Given the description of an element on the screen output the (x, y) to click on. 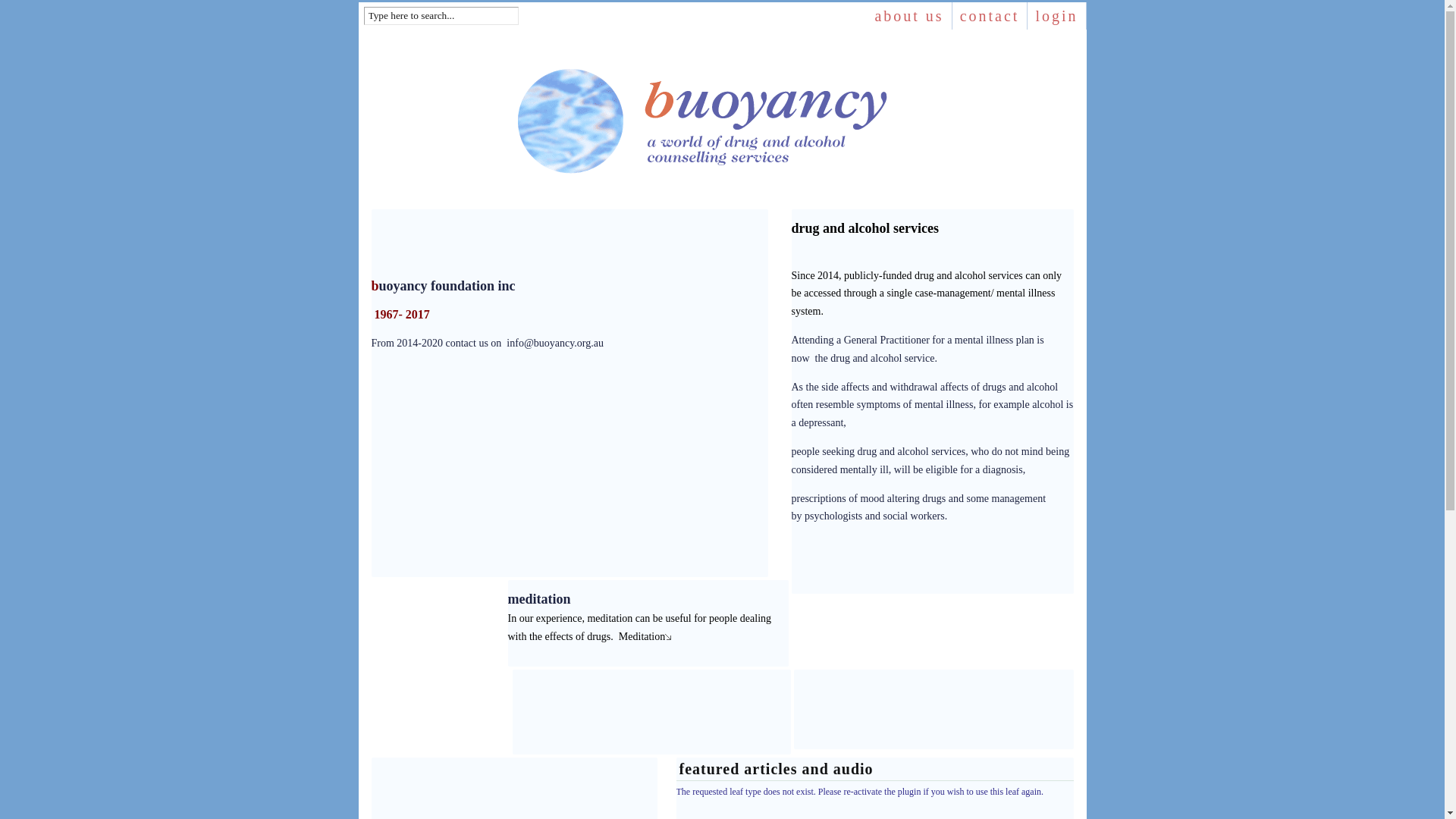
Meditation Element type: text (644, 636)
contact Element type: text (990, 15)
Buoyancy Foundation Inc Element type: hover (721, 127)
PostBullets Element type: hover (668, 634)
about us Element type: text (908, 15)
login Element type: text (1056, 15)
Type here to search... Element type: text (441, 15)
